Given the description of an element on the screen output the (x, y) to click on. 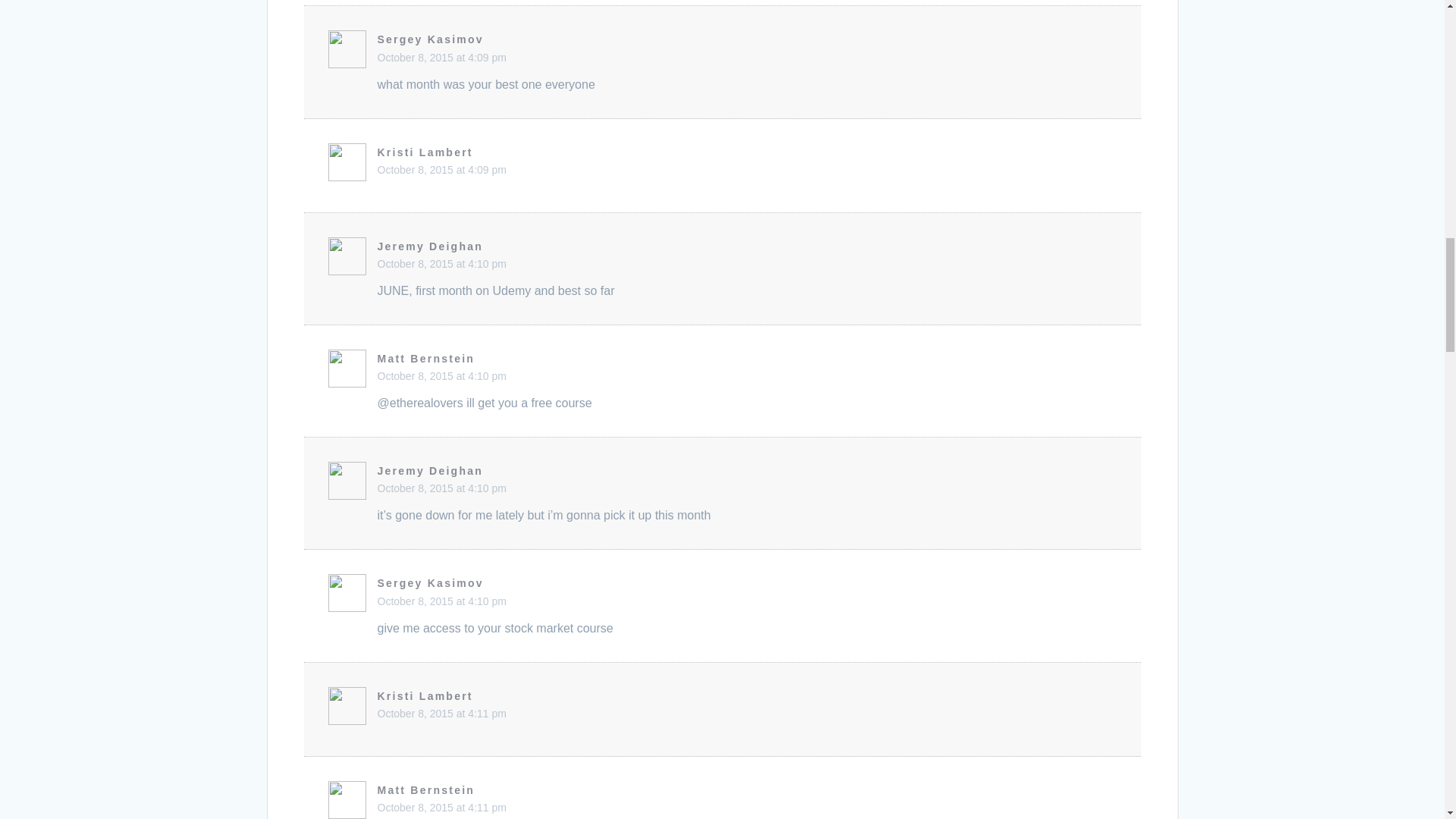
Sergey Kasimov (430, 39)
